Given the description of an element on the screen output the (x, y) to click on. 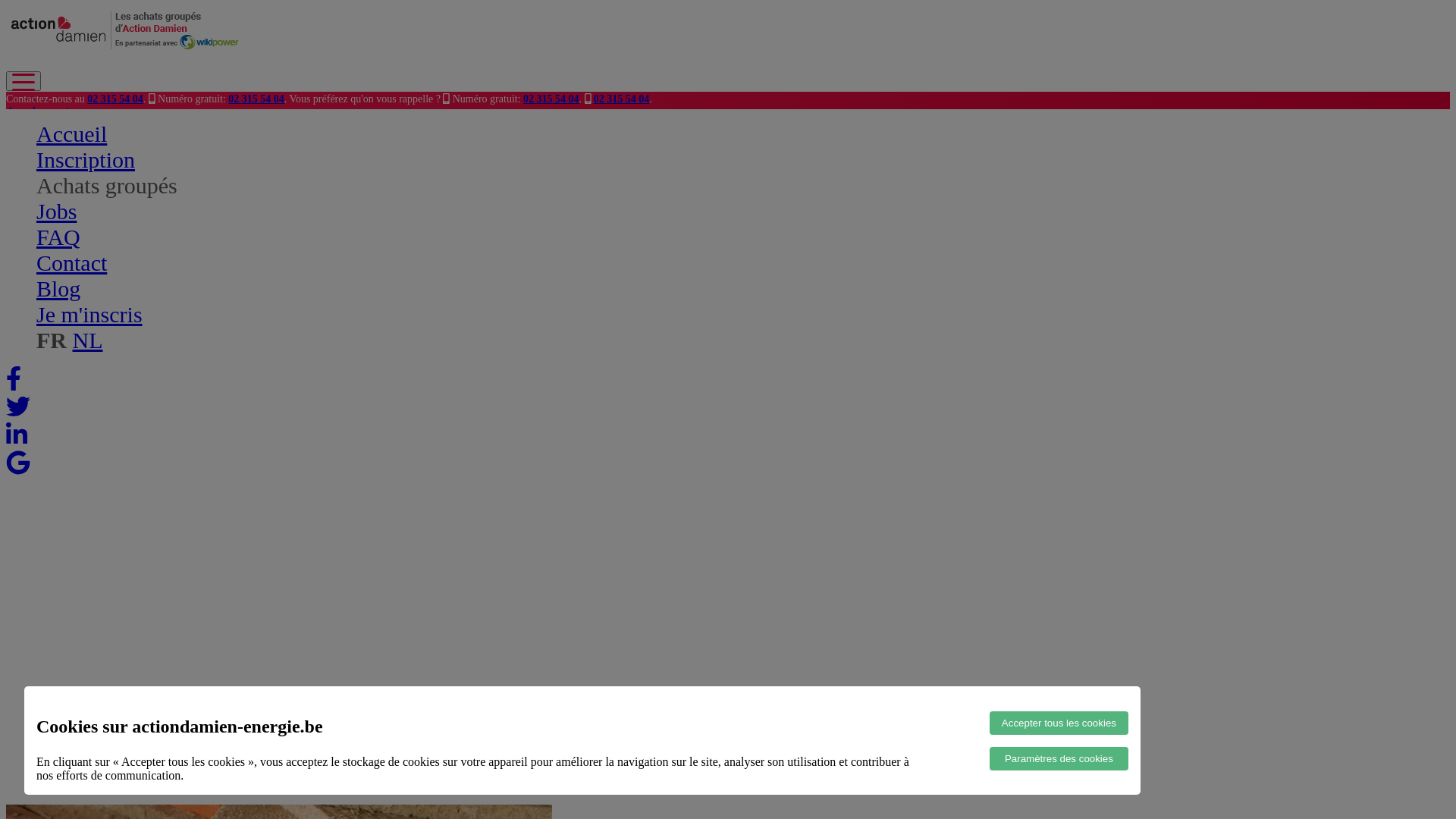
NL Element type: text (87, 339)
FAQ Element type: text (47, 244)
Inscription Element type: text (62, 217)
02 315 54 04 Element type: text (551, 98)
02 315 54 04 Element type: text (621, 98)
Jobs Element type: text (56, 210)
02 315 54 04 Element type: text (256, 98)
Je m'inscris Element type: text (34, 125)
02 315 54 04 Element type: text (115, 98)
Contact Element type: text (71, 262)
Blog Element type: text (58, 288)
Accueil Element type: text (71, 133)
Accepter tous les cookies Element type: text (1058, 722)
Blog Element type: text (47, 258)
Appelez-moi Element type: text (37, 111)
Je m'inscris Element type: text (89, 313)
Accueil Element type: text (55, 203)
Inscription Element type: text (85, 159)
NL Element type: text (63, 271)
FAQ Element type: text (58, 236)
Envoyer Element type: text (26, 502)
